Given the description of an element on the screen output the (x, y) to click on. 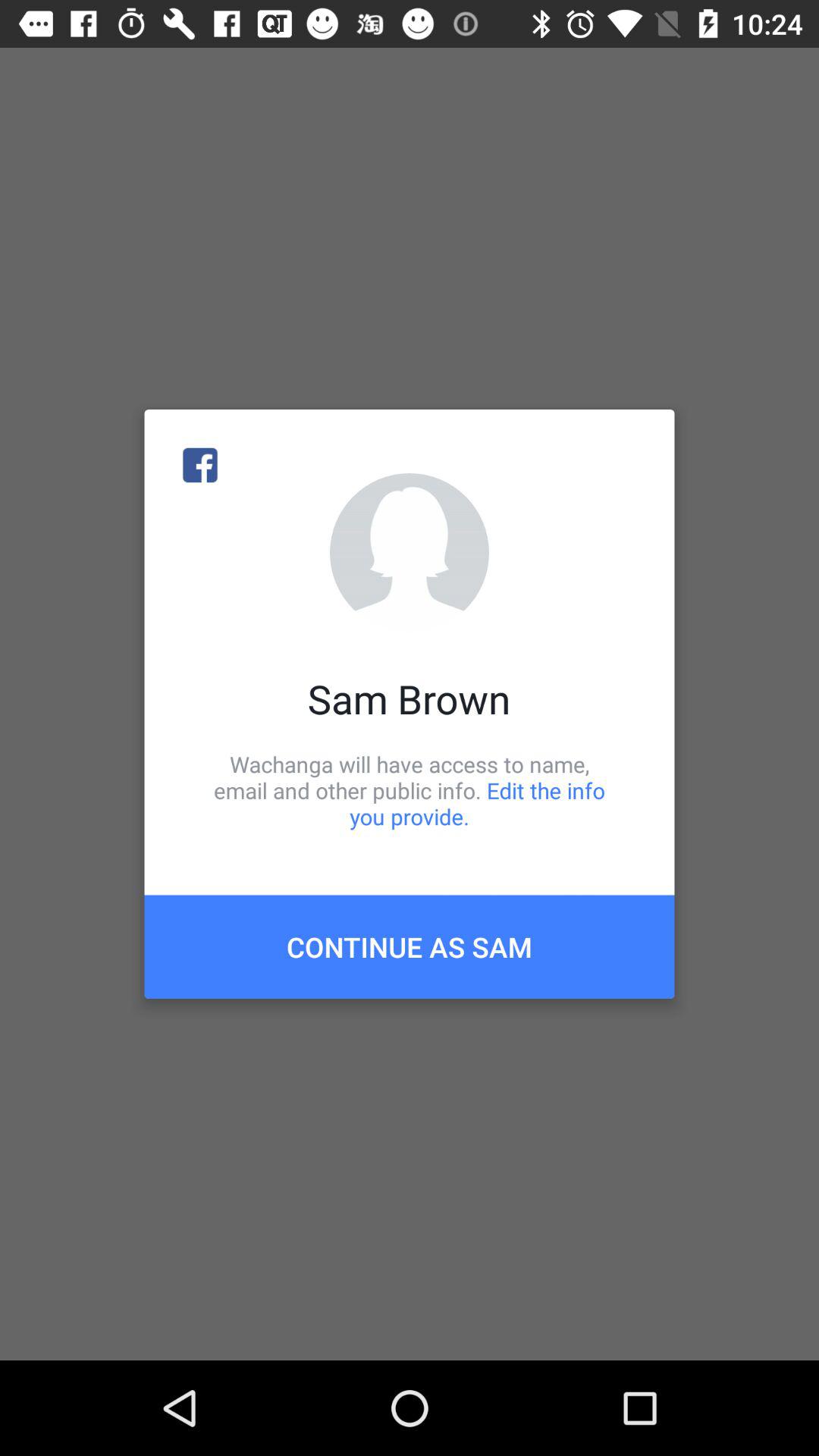
tap the item above the continue as sam (409, 790)
